Given the description of an element on the screen output the (x, y) to click on. 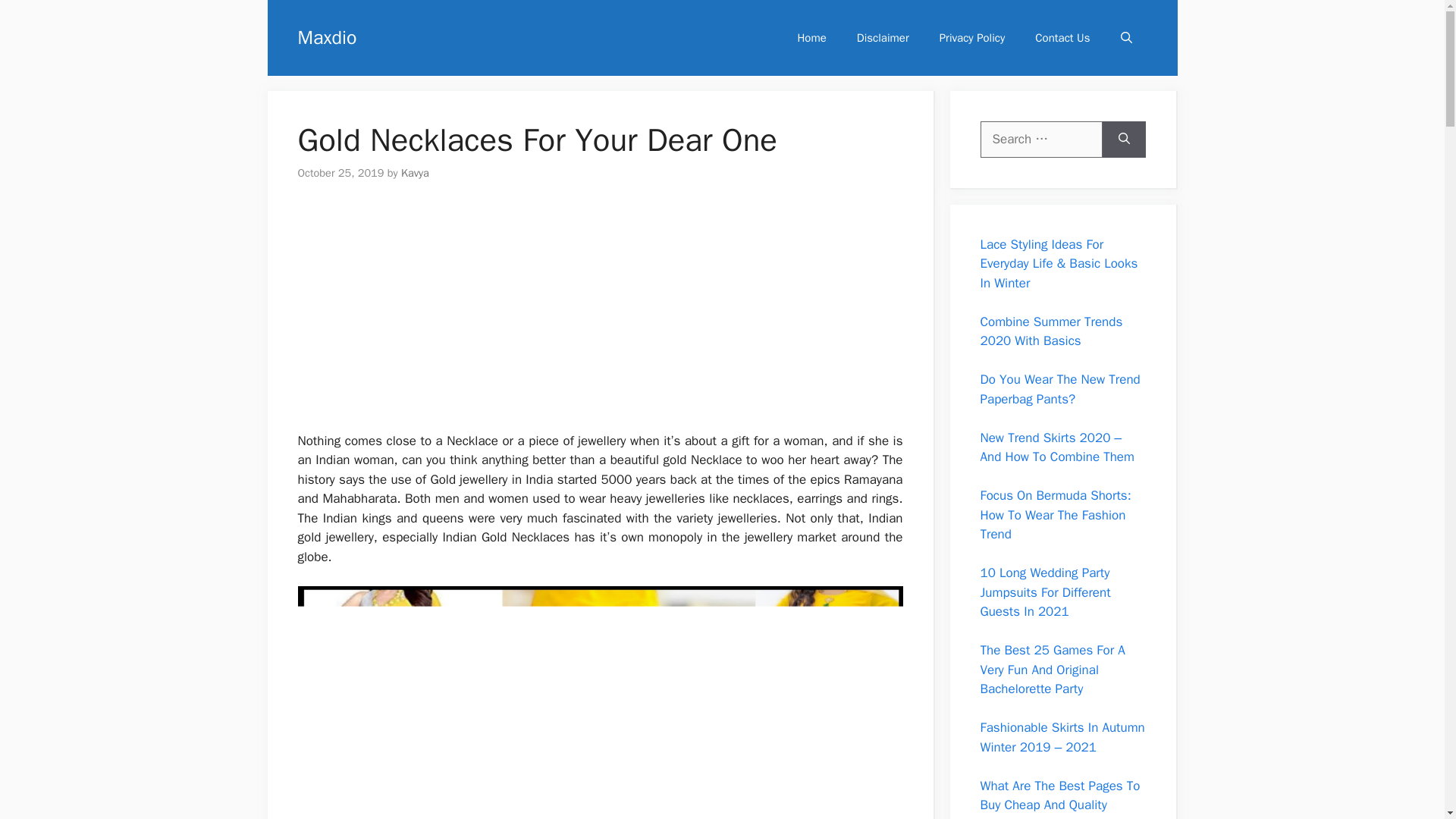
Combine Summer Trends 2020 With Basics (1050, 331)
10 Long Wedding Party Jumpsuits For Different Guests In 2021 (1044, 592)
Maxdio (326, 37)
Contact Us (1062, 37)
Disclaimer (882, 37)
Do You Wear The New Trend Paperbag Pants? (1059, 389)
Home (811, 37)
Search for: (1040, 139)
